Given the description of an element on the screen output the (x, y) to click on. 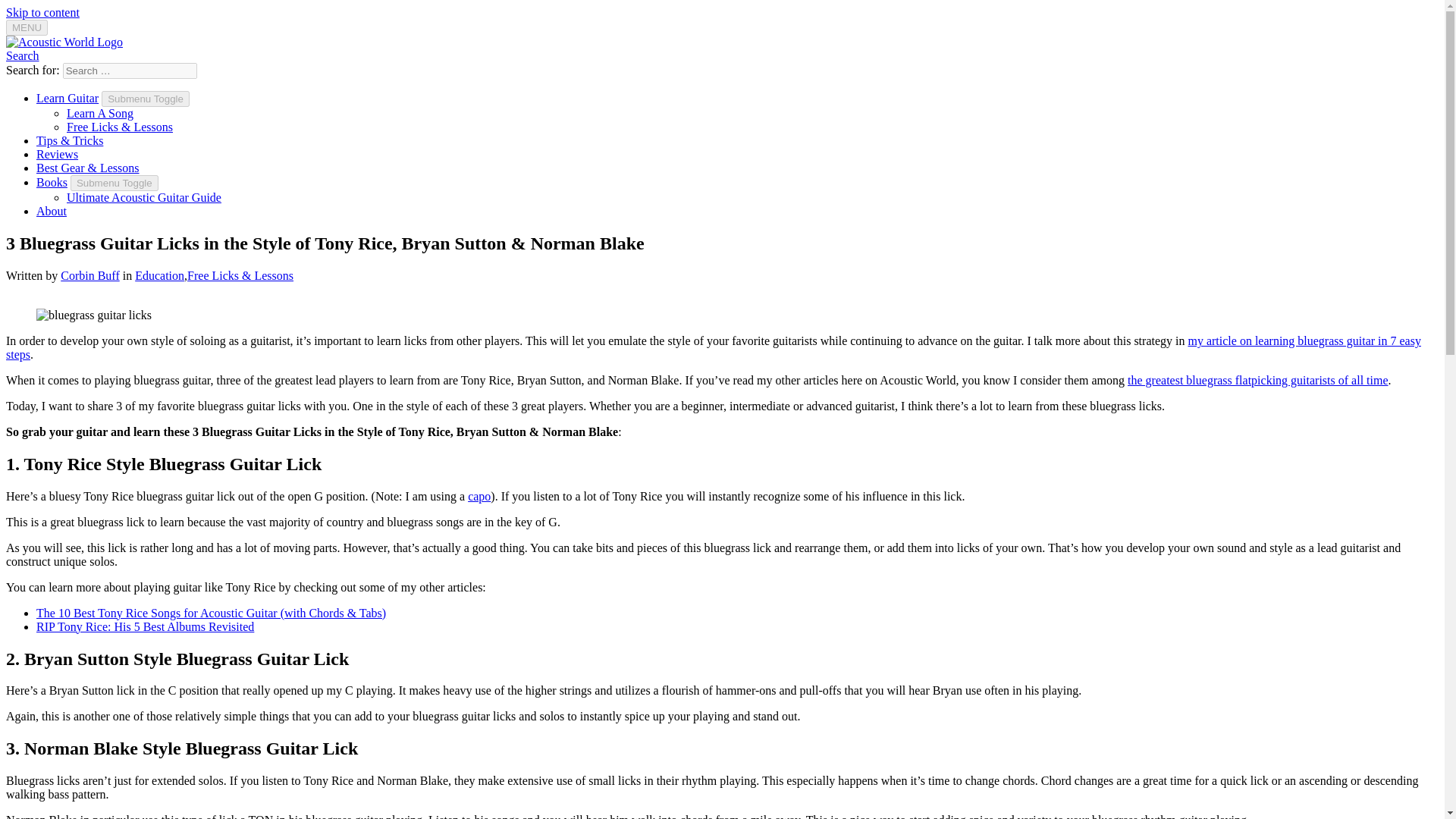
Corbin Buff (90, 275)
Books (51, 182)
capo (478, 495)
Learn Guitar (67, 97)
Education (159, 275)
Skip to content (42, 11)
MENU (26, 27)
Submenu Toggle (113, 182)
Learn A Song (99, 113)
Search (22, 55)
the greatest bluegrass flatpicking guitarists of all time (1256, 379)
Ultimate Acoustic Guitar Guide (143, 196)
Submenu Toggle (145, 98)
my article on learning bluegrass guitar in 7 easy steps (713, 347)
Reviews (57, 154)
